Given the description of an element on the screen output the (x, y) to click on. 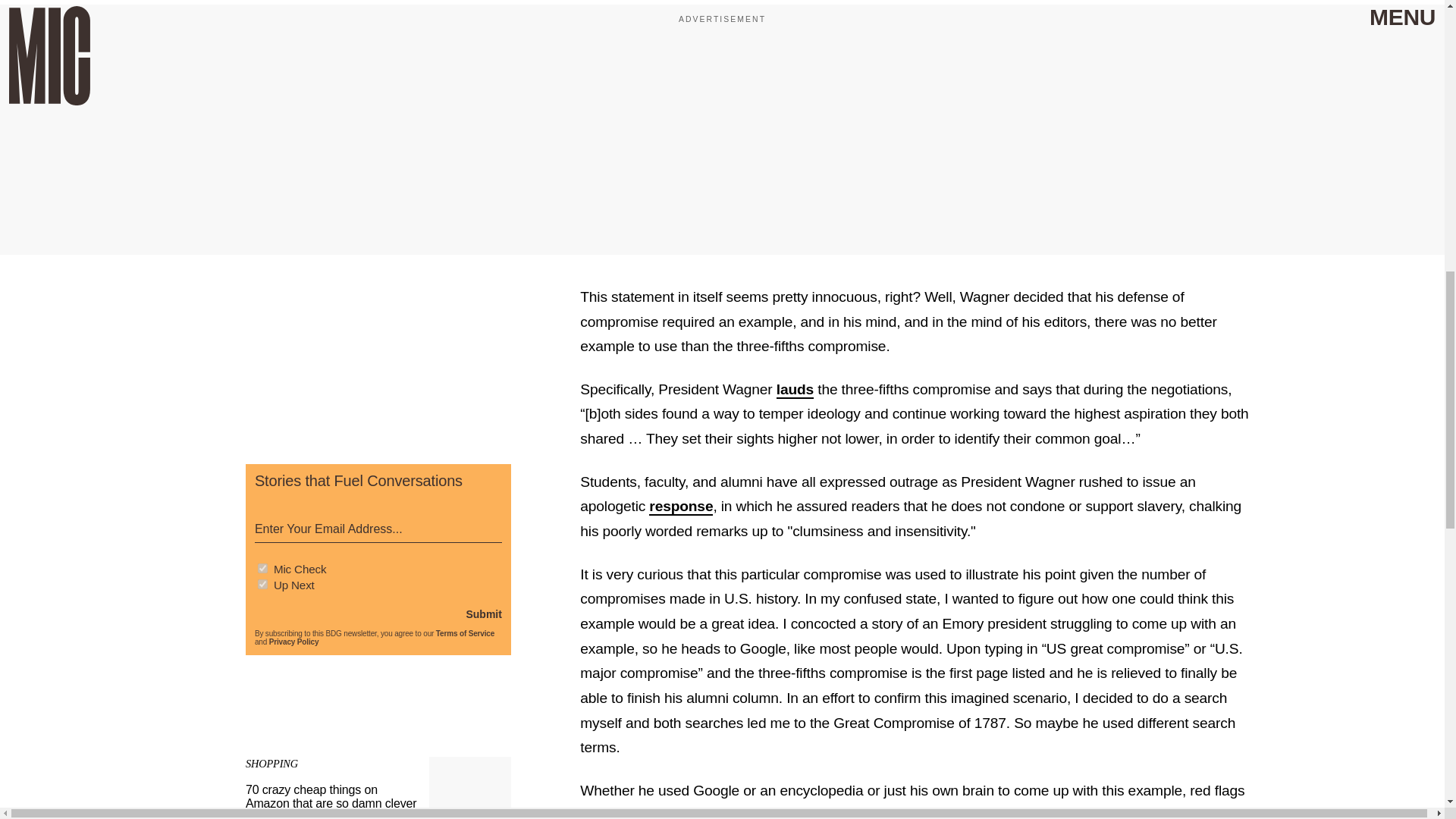
lauds (794, 389)
Terms of Service (465, 633)
response (681, 506)
Submit (482, 613)
Privacy Policy (293, 642)
